Given the description of an element on the screen output the (x, y) to click on. 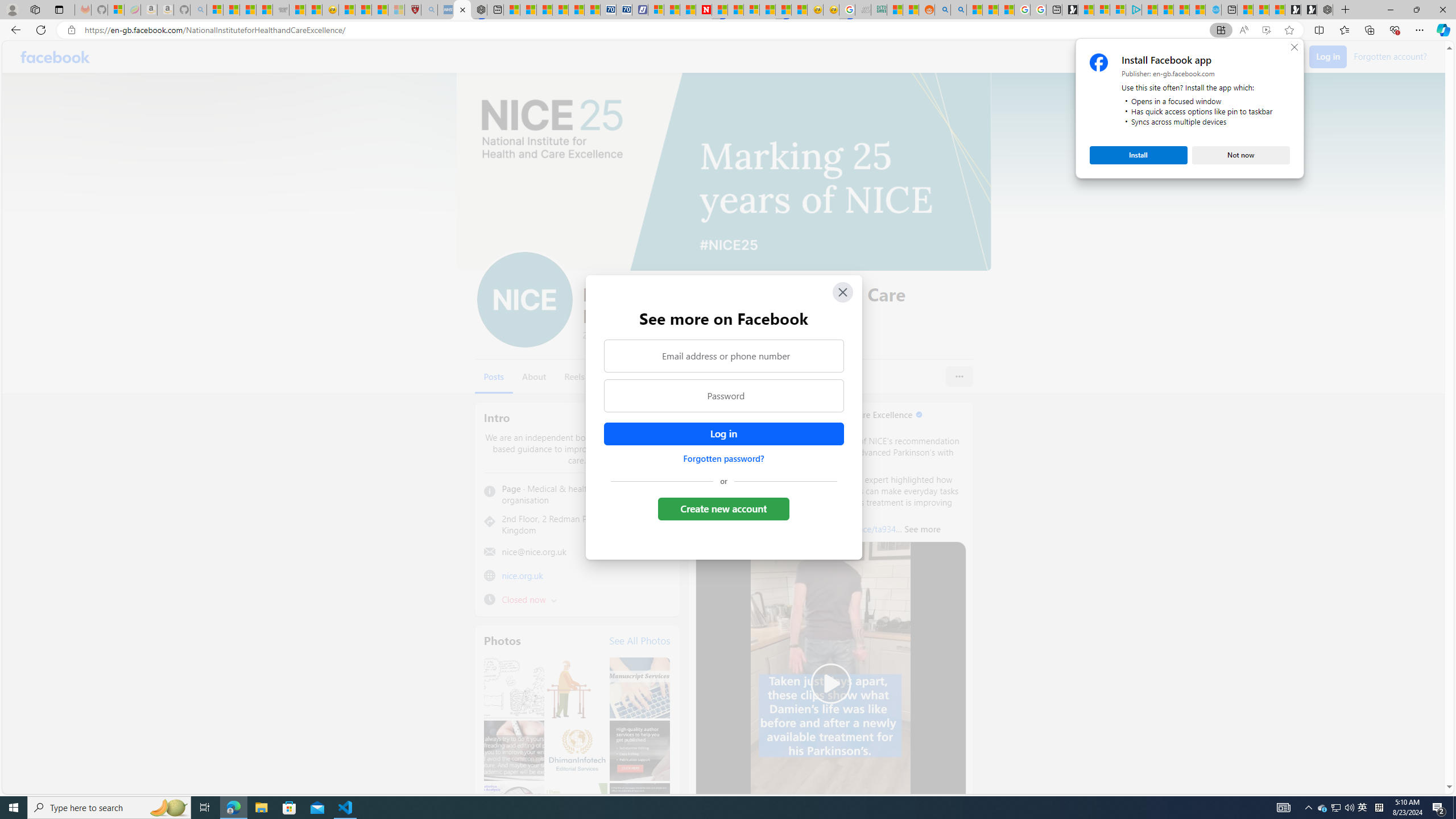
Facebook (55, 56)
